Given the description of an element on the screen output the (x, y) to click on. 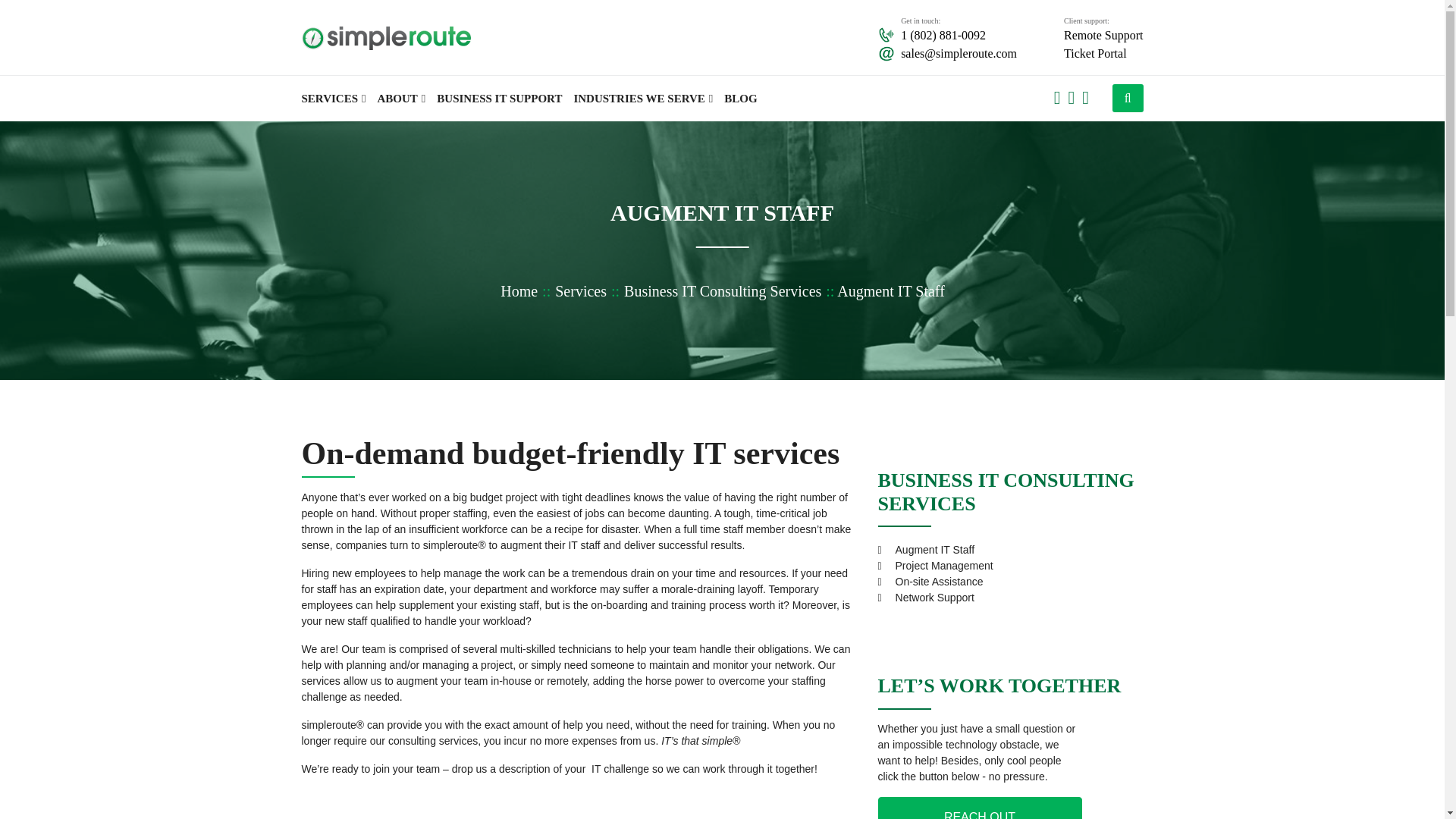
Ticket Portal (1103, 54)
Chatbot (1383, 758)
SERVICES (339, 98)
TOGGLE DROPDOWN (1135, 98)
Remote Support (1103, 35)
